Given the description of an element on the screen output the (x, y) to click on. 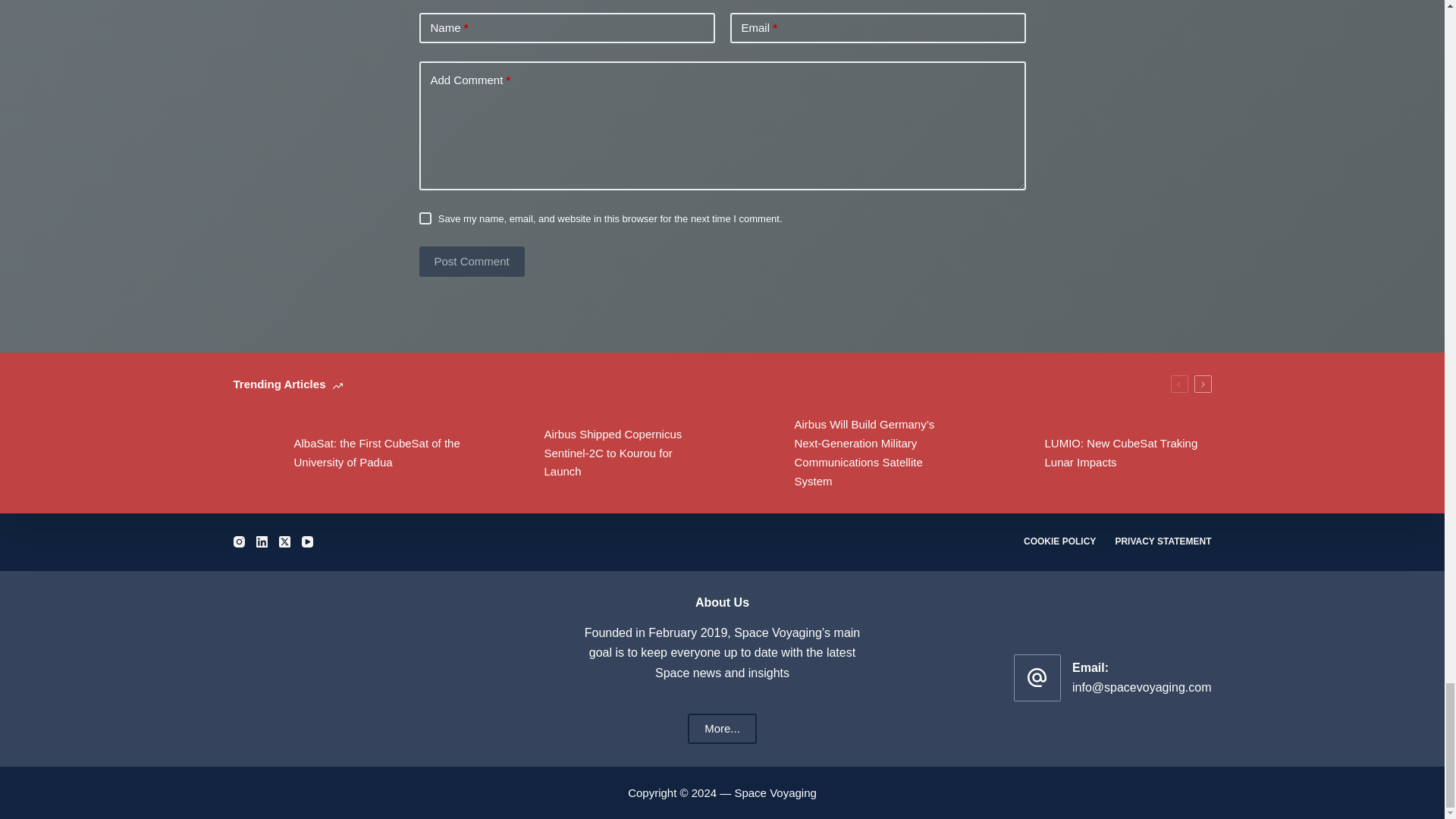
yes (424, 218)
